Given the description of an element on the screen output the (x, y) to click on. 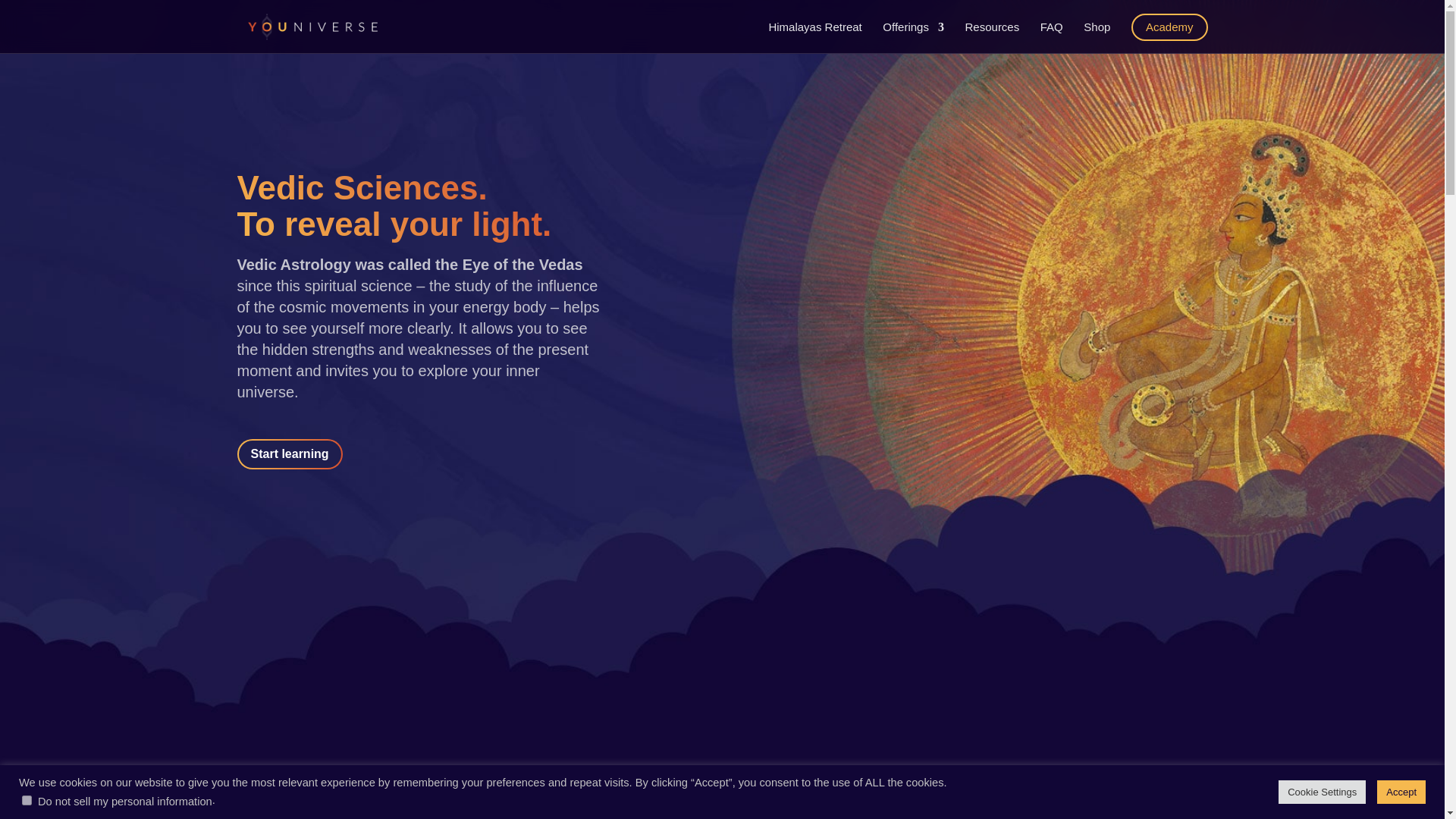
Offerings (912, 37)
on (26, 800)
Start learning (288, 454)
Resources (992, 37)
Shop (1096, 37)
Himalayas Retreat (814, 37)
FAQ (1051, 37)
Academy (1169, 27)
